Given the description of an element on the screen output the (x, y) to click on. 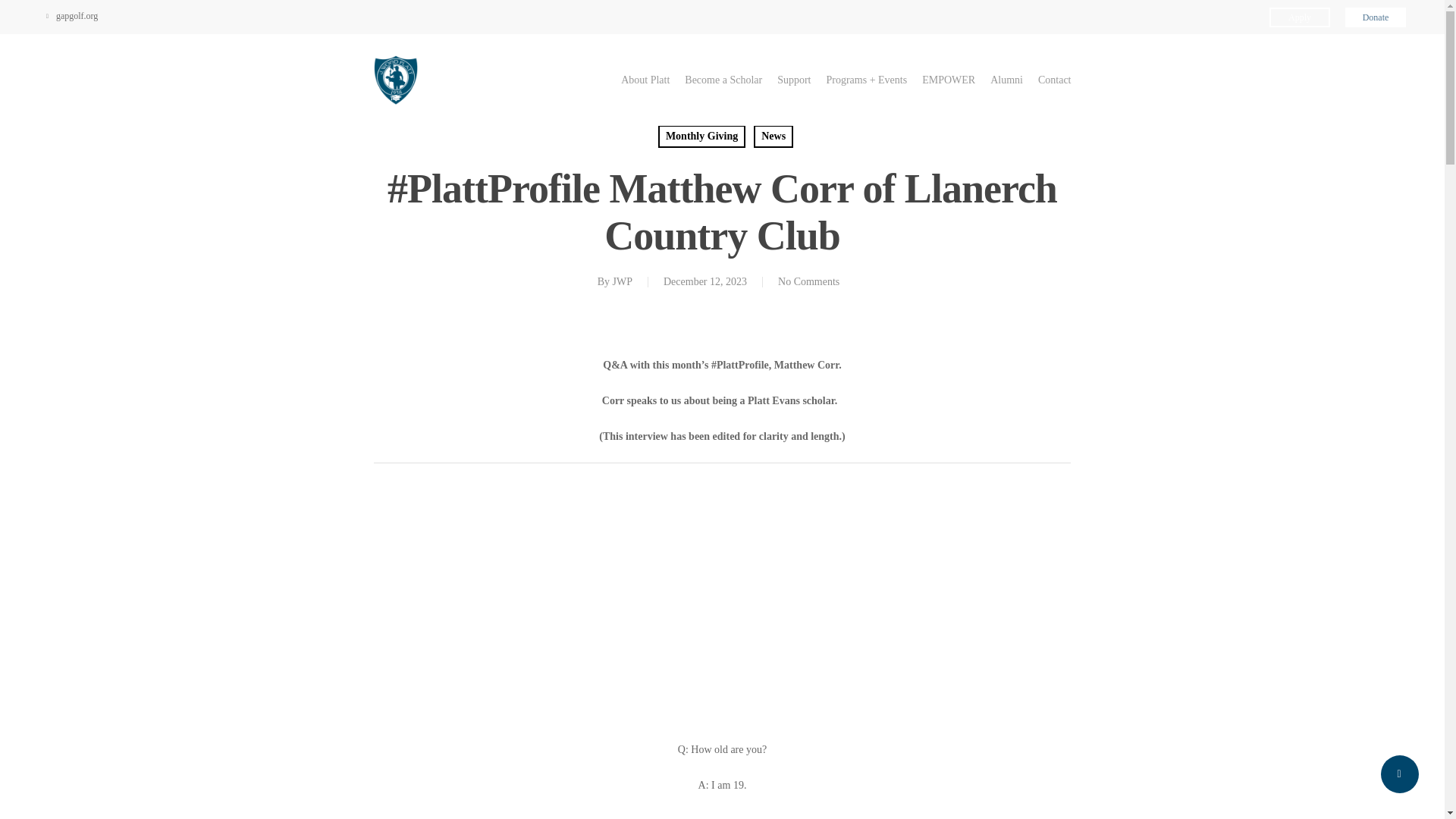
About Platt (645, 79)
EMPOWER (948, 79)
Posts by JWP (621, 281)
Alumni (1006, 79)
Become a Scholar (722, 79)
Apply (1299, 17)
Donate (1375, 17)
gapgolf.org (71, 15)
Support (793, 79)
